Given the description of an element on the screen output the (x, y) to click on. 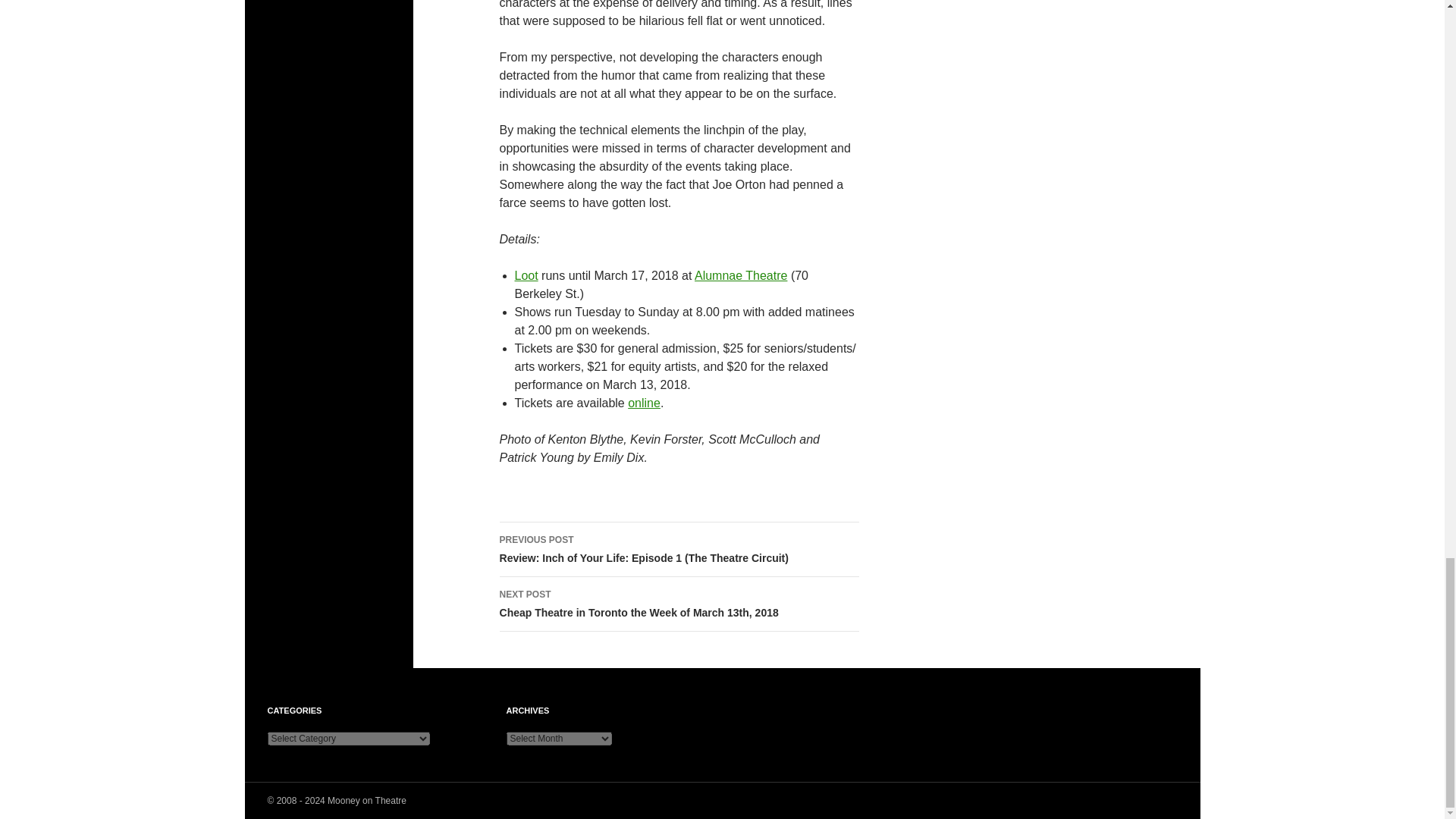
Loot (525, 275)
online (644, 402)
Alumnae Theatre (740, 275)
